Given the description of an element on the screen output the (x, y) to click on. 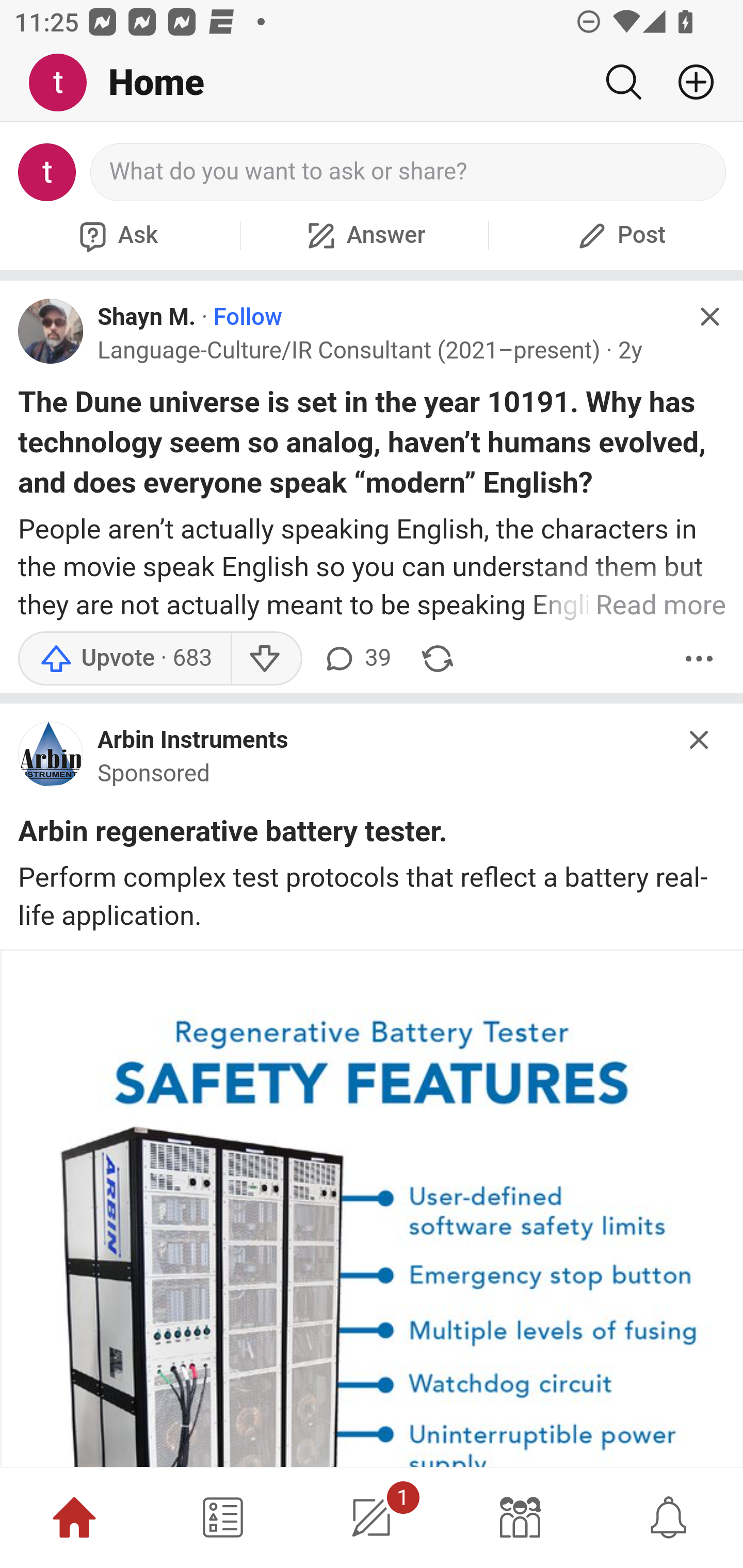
Me (64, 83)
Search (623, 82)
Add (688, 82)
What do you want to ask or share? (408, 172)
Ask (116, 234)
Answer (364, 234)
Post (618, 234)
Hide (709, 316)
Profile photo for Shayn M. (50, 330)
Shayn M. (146, 316)
Follow (248, 316)
Upvote (124, 658)
Downvote (266, 658)
39 comments (356, 658)
Share (437, 658)
More (699, 658)
Hide (699, 739)
main-qimg-e3204e8ac522f2bc4d03db14dfcf0739 (50, 759)
Arbin Instruments (193, 740)
Sponsored (154, 774)
Arbin regenerative battery tester. (232, 834)
1 (371, 1517)
